Given the description of an element on the screen output the (x, y) to click on. 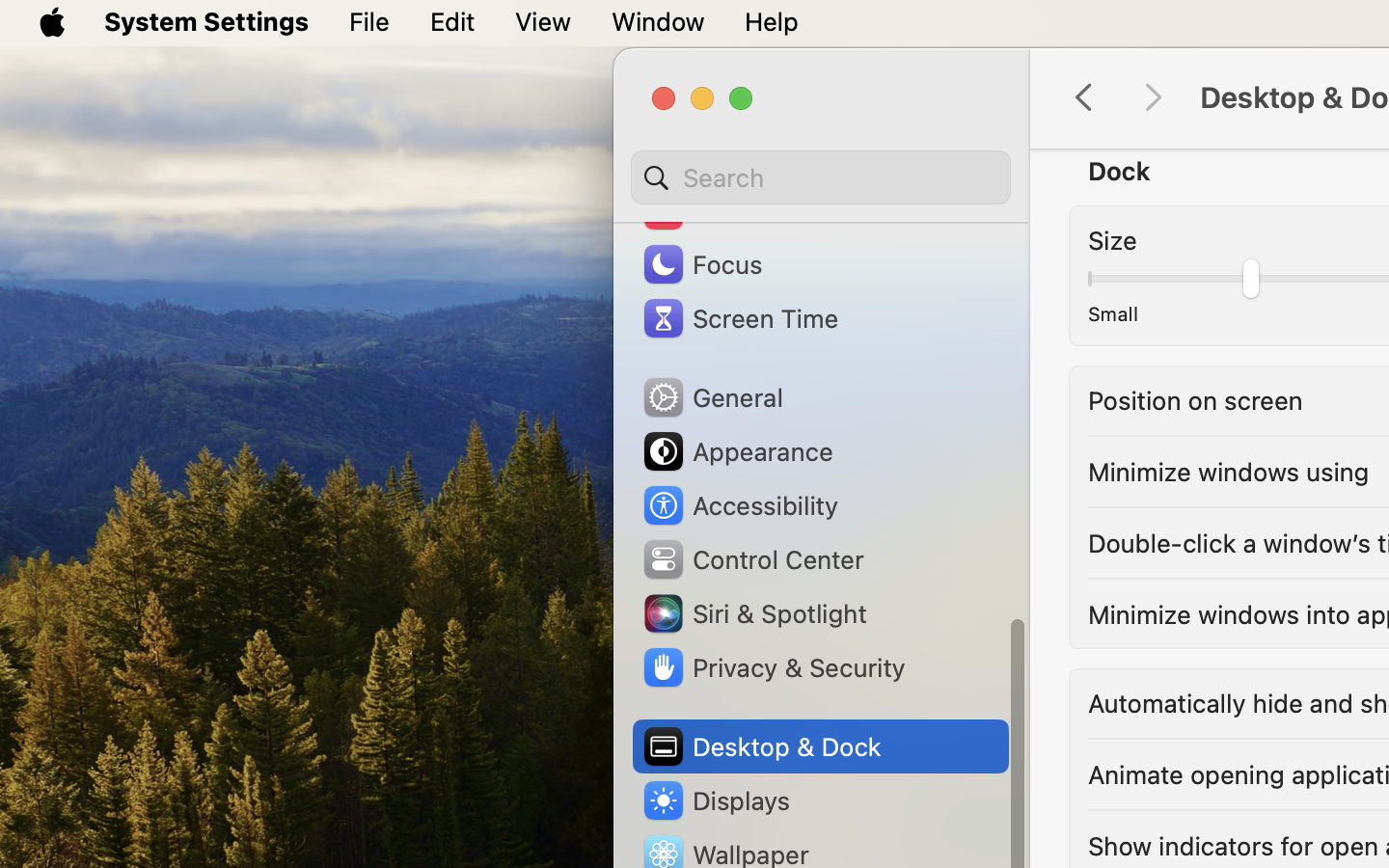
Sound Element type: AXStaticText (703, 210)
Privacy & Security Element type: AXStaticText (772, 667)
Screen Time Element type: AXStaticText (739, 318)
Position on screen Element type: AXStaticText (1195, 398)
Desktop & Dock Element type: AXStaticText (760, 746)
